Given the description of an element on the screen output the (x, y) to click on. 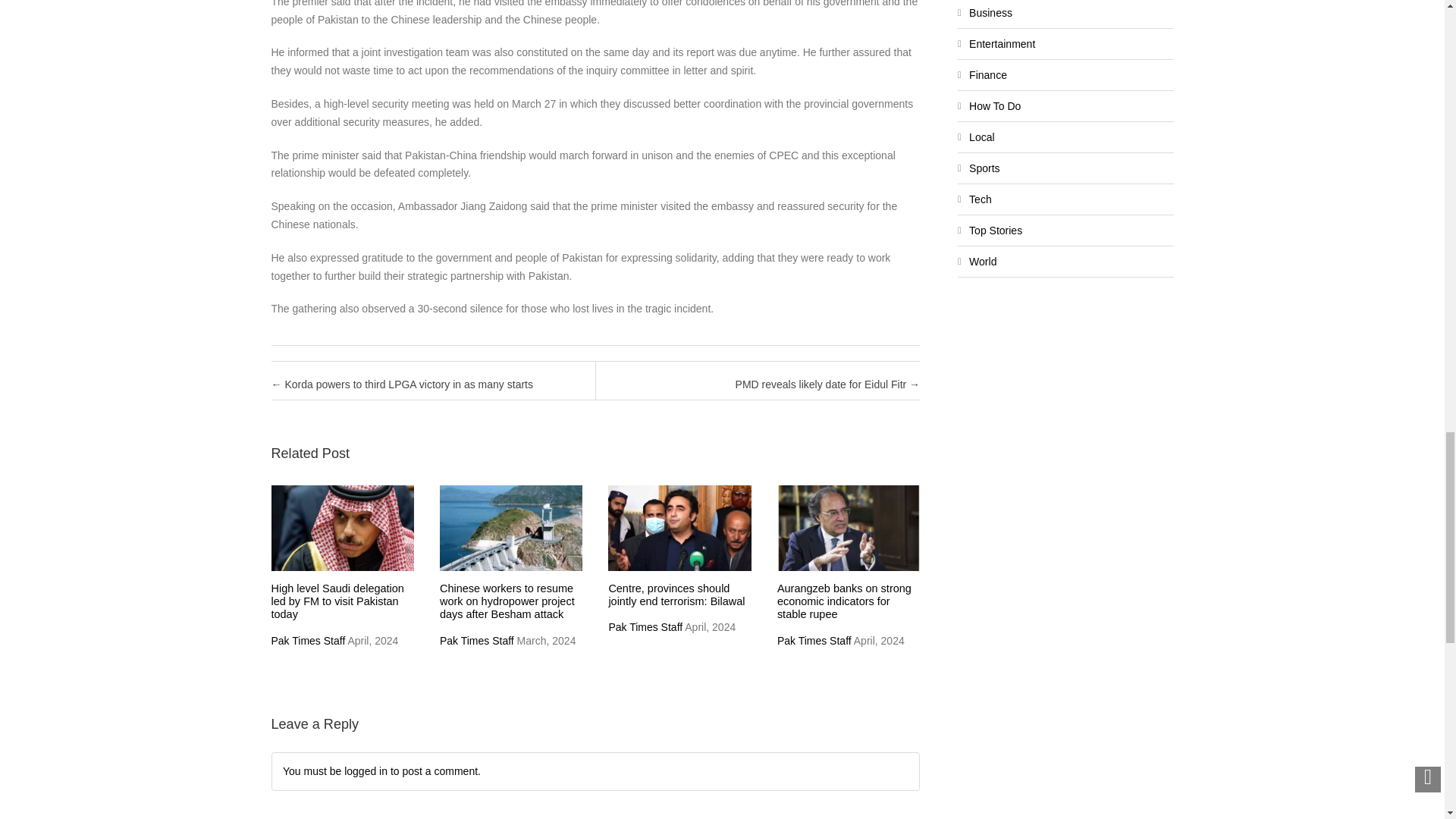
Centre, provinces should jointly end terrorism: Bilawal (676, 594)
Centre, provinces should jointly end terrorism: Bilawal (676, 594)
Pak Times Staff (476, 640)
Pak Times Staff (308, 640)
